Given the description of an element on the screen output the (x, y) to click on. 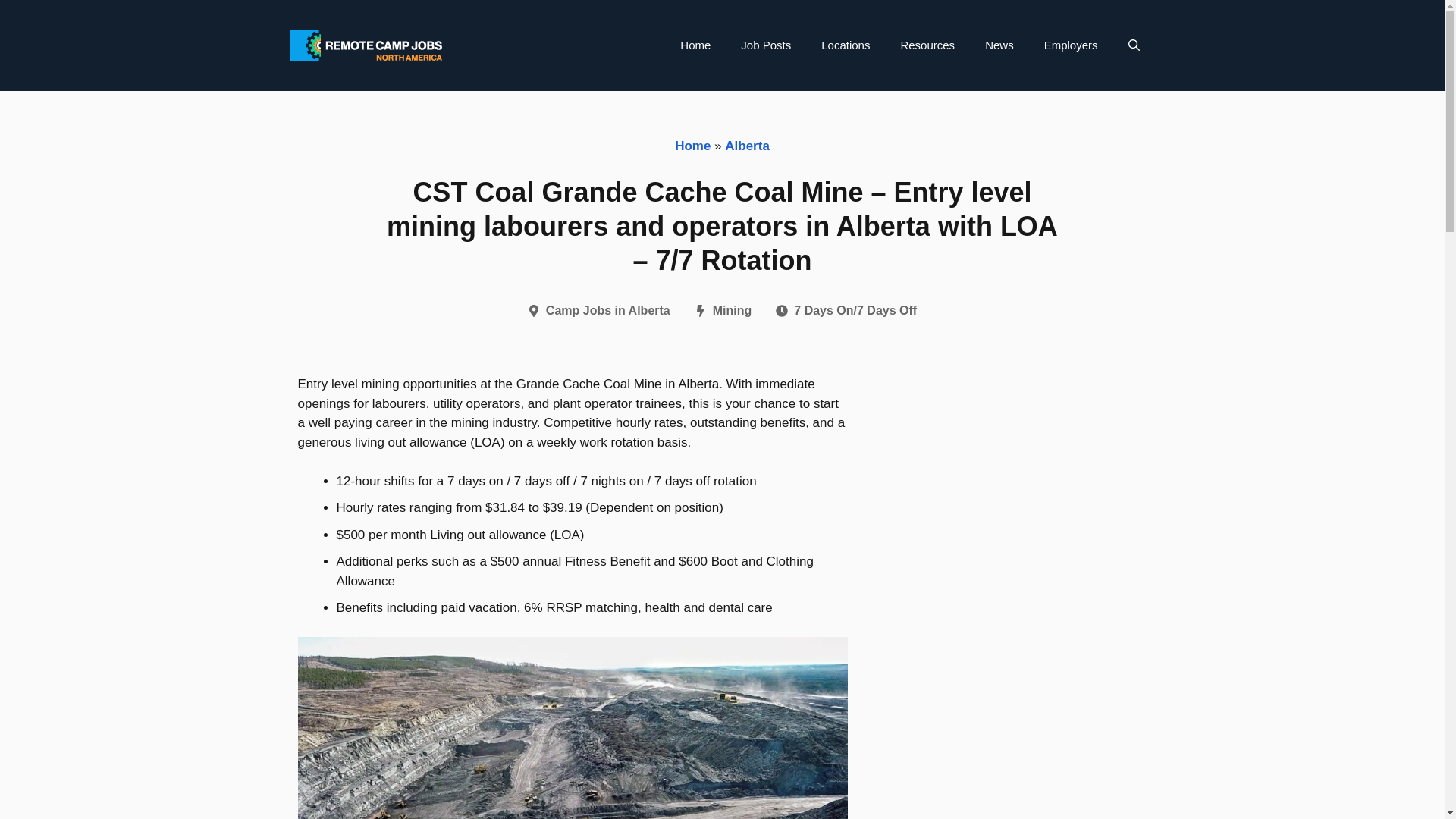
Employers (1071, 44)
Alberta (747, 145)
Resources (927, 44)
Home (692, 145)
Camp Jobs in Alberta (607, 309)
Job Posts (765, 44)
News (999, 44)
Mining (732, 309)
Home (695, 44)
Locations (845, 44)
